Given the description of an element on the screen output the (x, y) to click on. 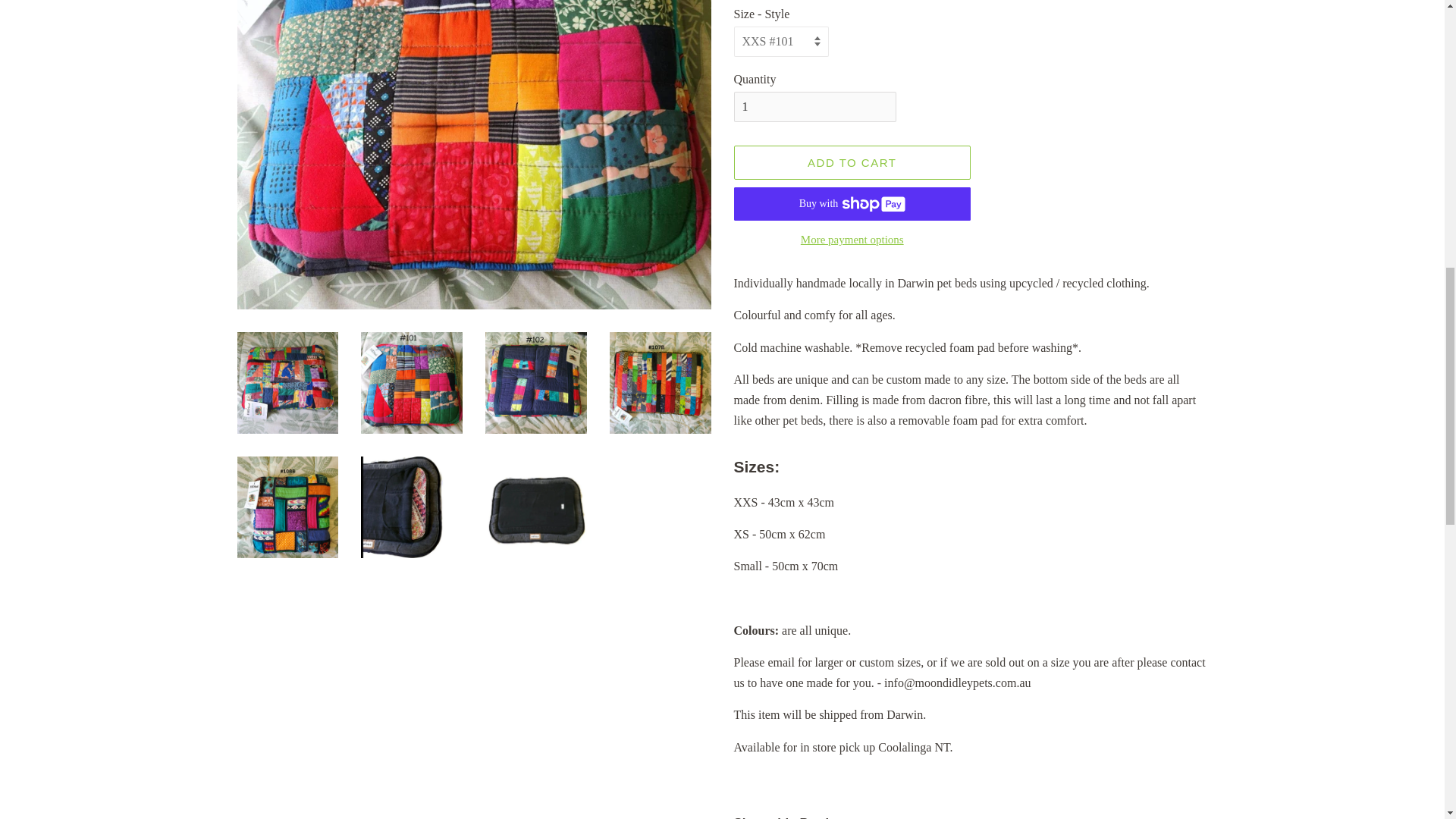
1 (814, 106)
